Given the description of an element on the screen output the (x, y) to click on. 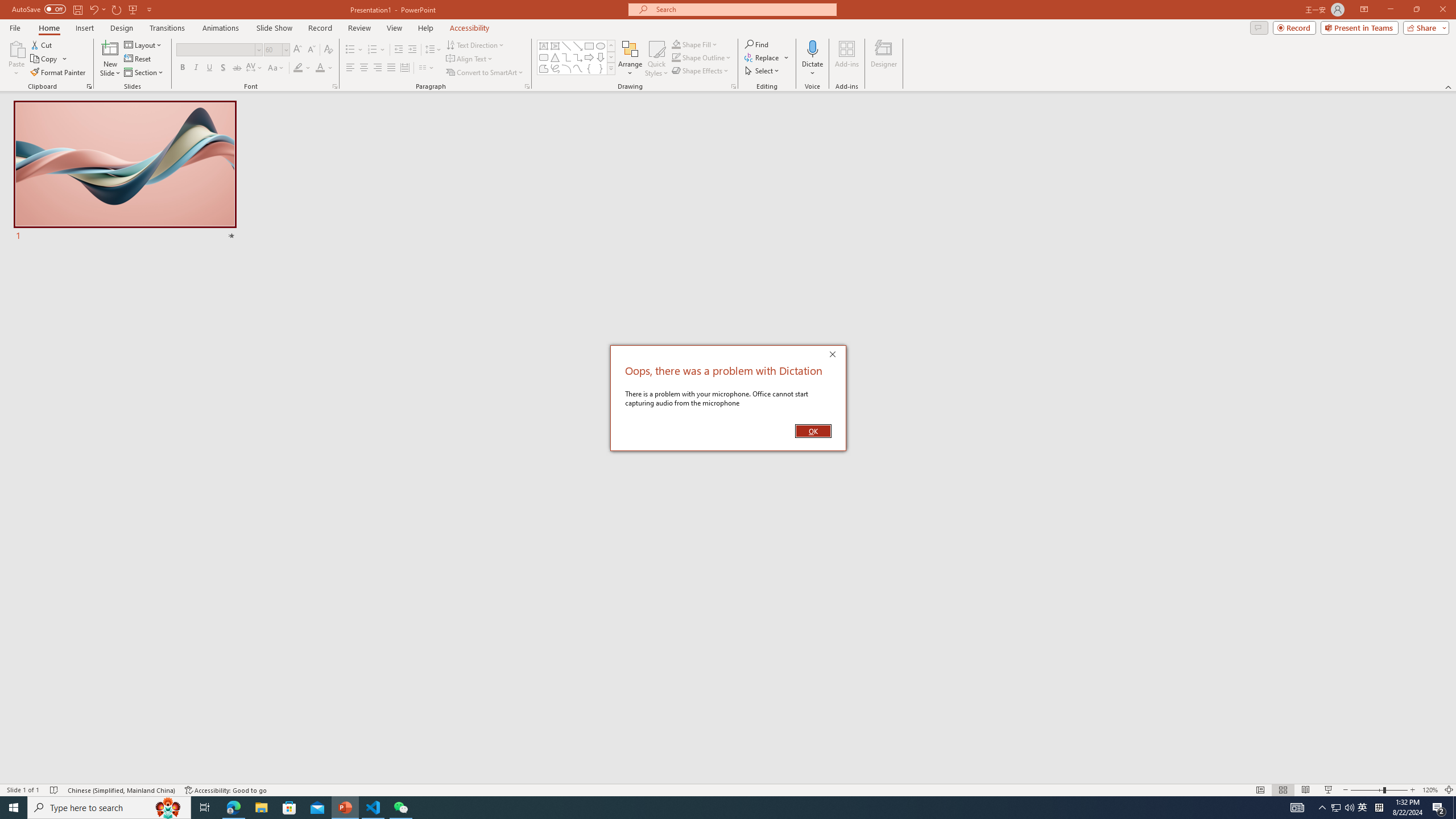
Clear Formatting (327, 49)
Increase Font Size (297, 49)
Connector: Elbow Arrow (577, 57)
Isosceles Triangle (554, 57)
Columns (426, 67)
Notification Chevron (1322, 807)
Curve (577, 68)
Reset (138, 58)
Office Clipboard... (88, 85)
